Given the description of an element on the screen output the (x, y) to click on. 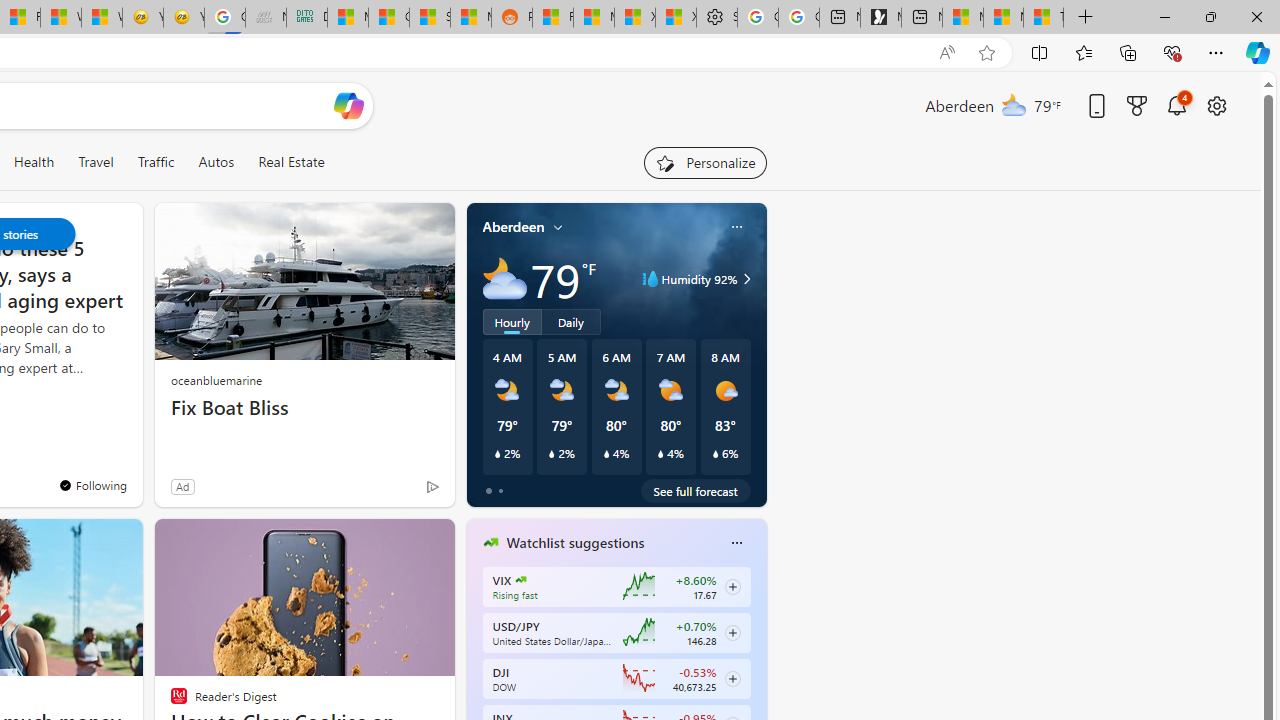
Class: icon-img (736, 542)
tab-1 (500, 490)
Class: weather-current-precipitation-glyph (715, 453)
You're following FOX News (92, 485)
